Given the description of an element on the screen output the (x, y) to click on. 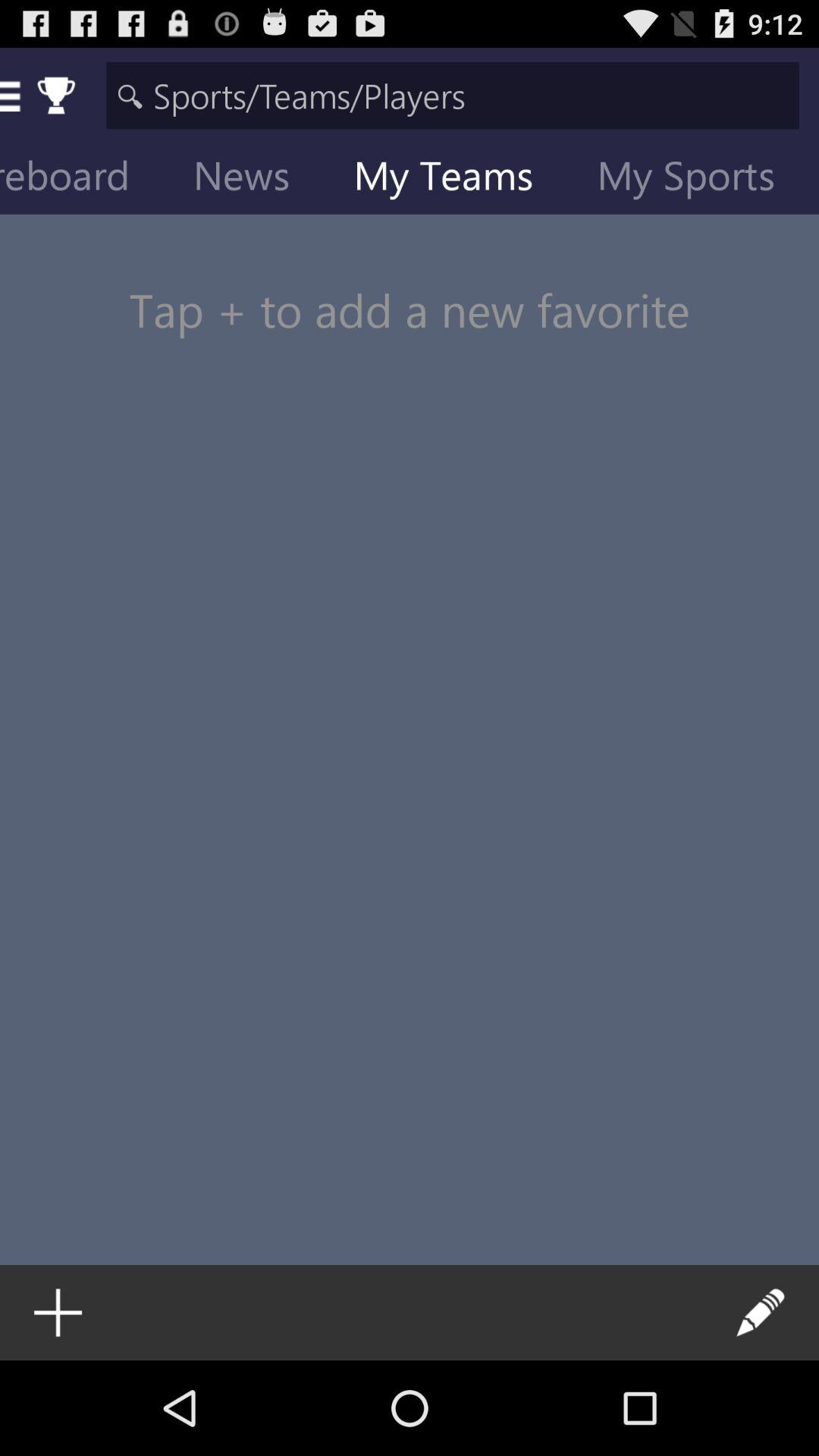
turn on the icon next to scoreboard icon (253, 178)
